Given the description of an element on the screen output the (x, y) to click on. 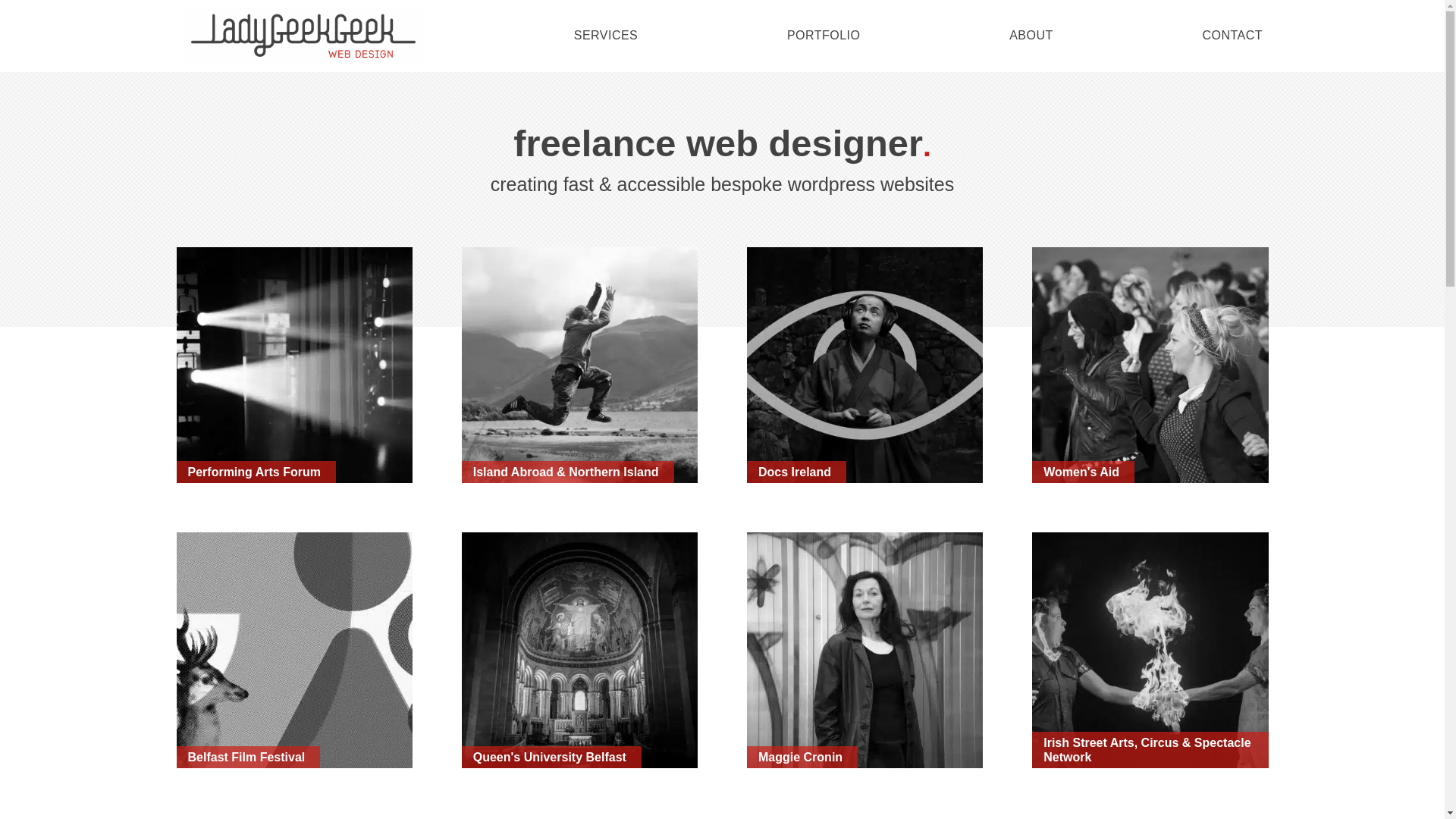
PORTFOLIO (823, 35)
 Docs Ireland (888, 384)
porfolio (823, 35)
about (1030, 35)
LADYGEEKGEEK WEB DESIGN (303, 35)
Queen's University Belfast (650, 708)
SERVICES (605, 35)
Performing Arts Forum (294, 362)
Belfast Film Festival (347, 699)
ABOUT (1030, 35)
 Maggie Cronin (950, 718)
contact (1232, 35)
CONTACT (1232, 35)
services (605, 35)
Women's Aid (1188, 398)
